Given the description of an element on the screen output the (x, y) to click on. 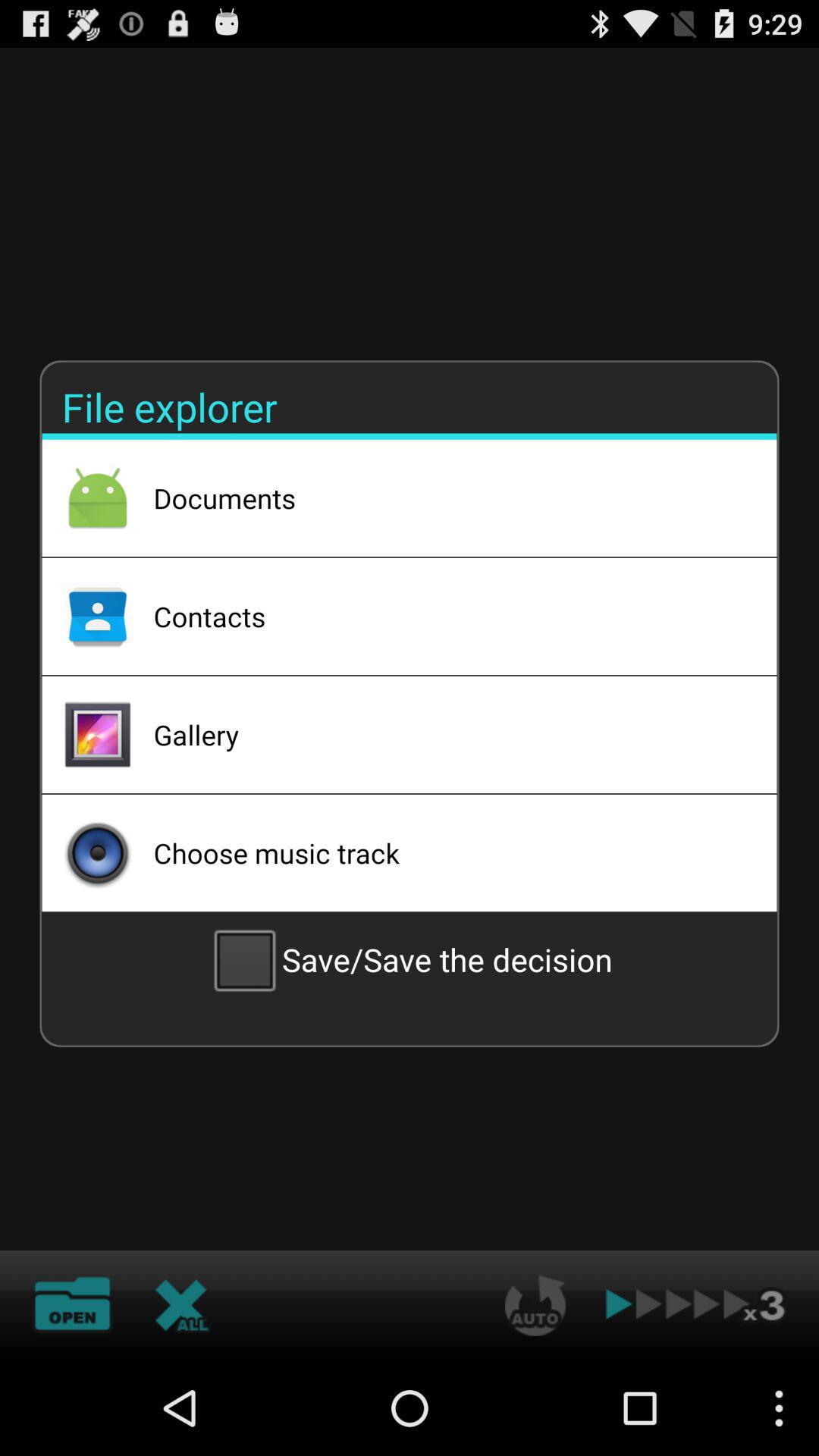
tap the gallery item (445, 734)
